Given the description of an element on the screen output the (x, y) to click on. 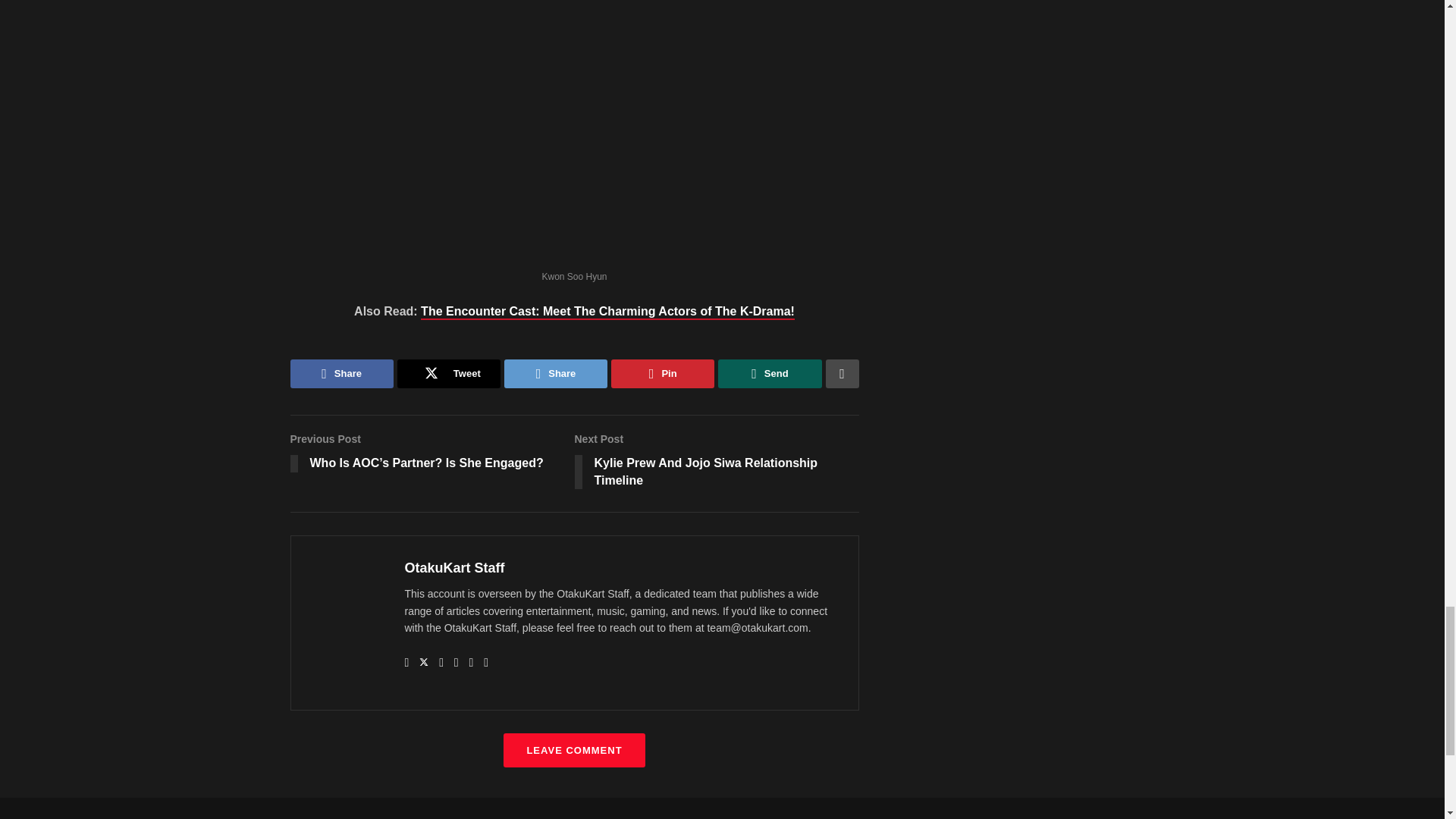
Share (555, 373)
Send (769, 373)
Tweet (448, 373)
Pin (717, 463)
The Encounter Cast: Meet The Charming Actors of The K-Drama! (662, 373)
OtakuKart Staff (607, 312)
Share (454, 567)
